Given the description of an element on the screen output the (x, y) to click on. 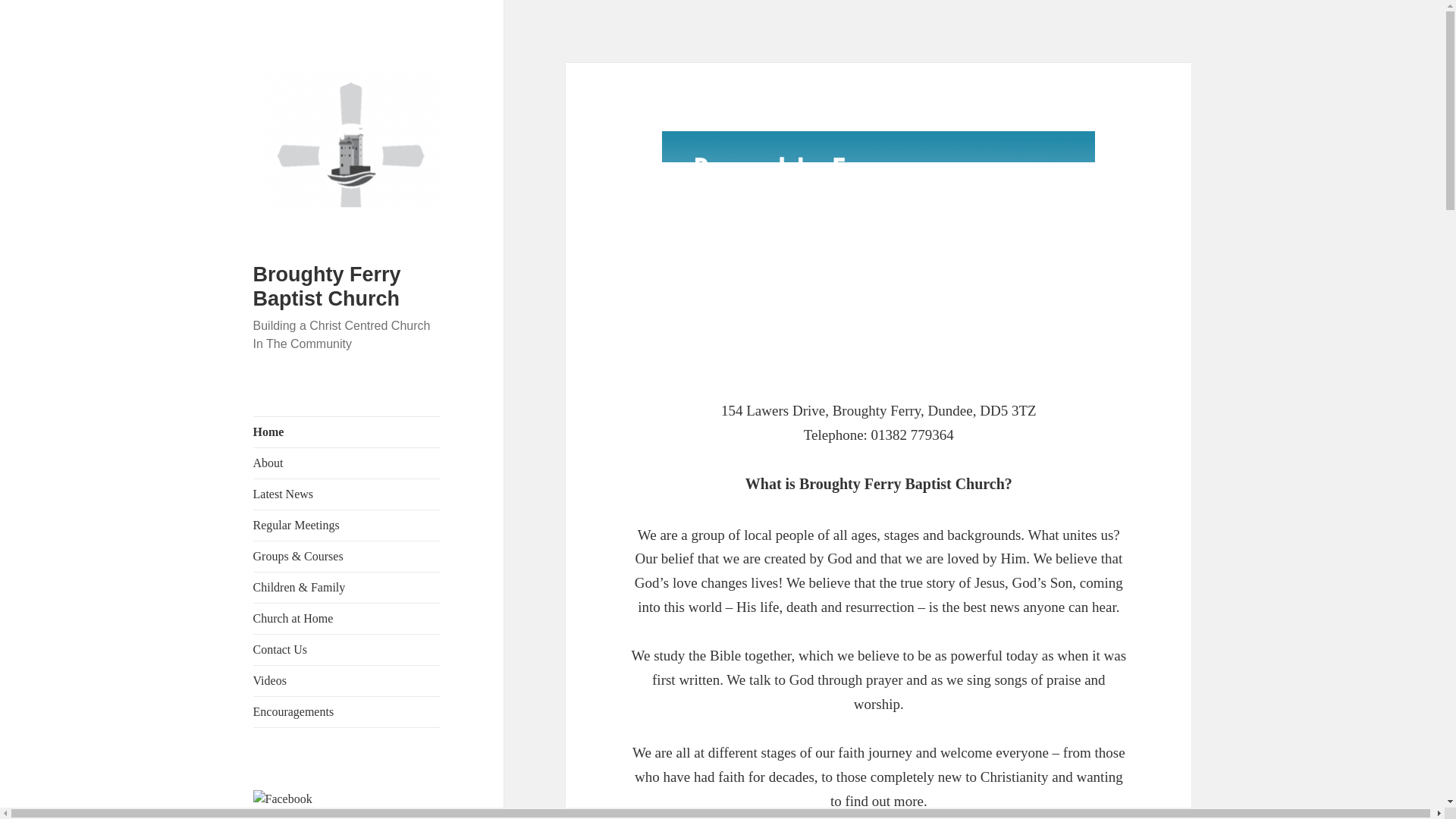
Contact Us (347, 649)
Videos (347, 680)
Regular Meetings (347, 525)
Encouragements (347, 711)
Home (347, 431)
Latest News (347, 494)
About (347, 462)
Church at Home (347, 618)
Broughty Ferry Baptist Church (327, 286)
